Given the description of an element on the screen output the (x, y) to click on. 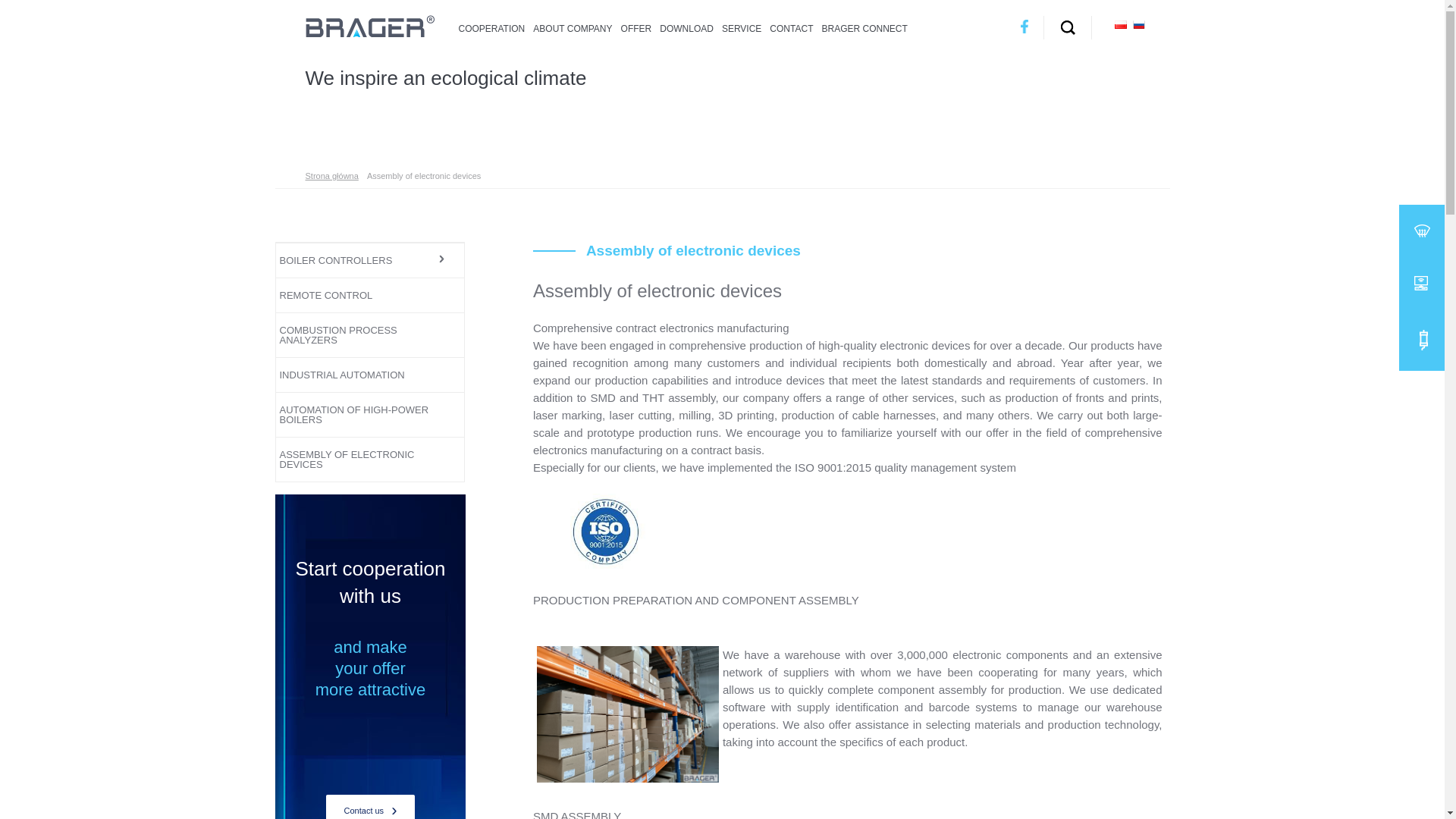
ASSEMBLY OF ELECTRONIC DEVICES (354, 459)
COOPERATION (491, 28)
ABOUT COMPANY (571, 28)
SERVICE (741, 28)
BOILER CONTROLLERS (354, 260)
BRAGER CONNECT (864, 28)
Brager Sp. z o.o. (369, 33)
REMOTE CONTROL (354, 295)
AUTOMATION OF HIGH-POWER BOILERS (354, 414)
DOWNLOAD (686, 28)
CONTACT (791, 28)
INDUSTRIAL AUTOMATION (354, 374)
OFFER (636, 28)
COMBUSTION PROCESS ANALYZERS (354, 334)
